Given the description of an element on the screen output the (x, y) to click on. 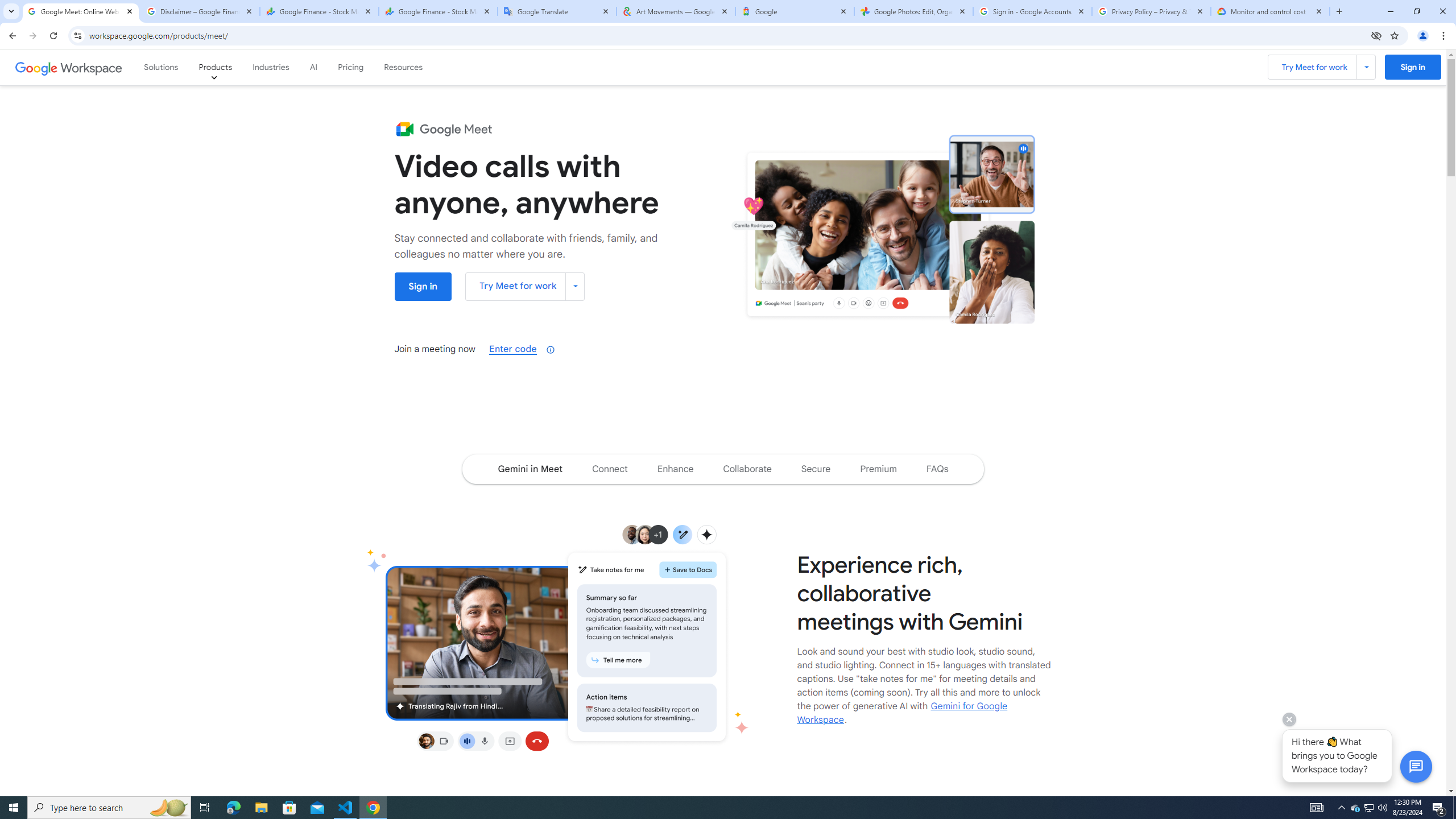
Try Meet for work (525, 286)
Jump to the connect section of the page  (609, 468)
Jump to the Google Meet FAQs (937, 468)
Google Translate (556, 11)
AutomationID: cloud-chatbot-chat-activate-bar-desktop (1416, 766)
